Given the description of an element on the screen output the (x, y) to click on. 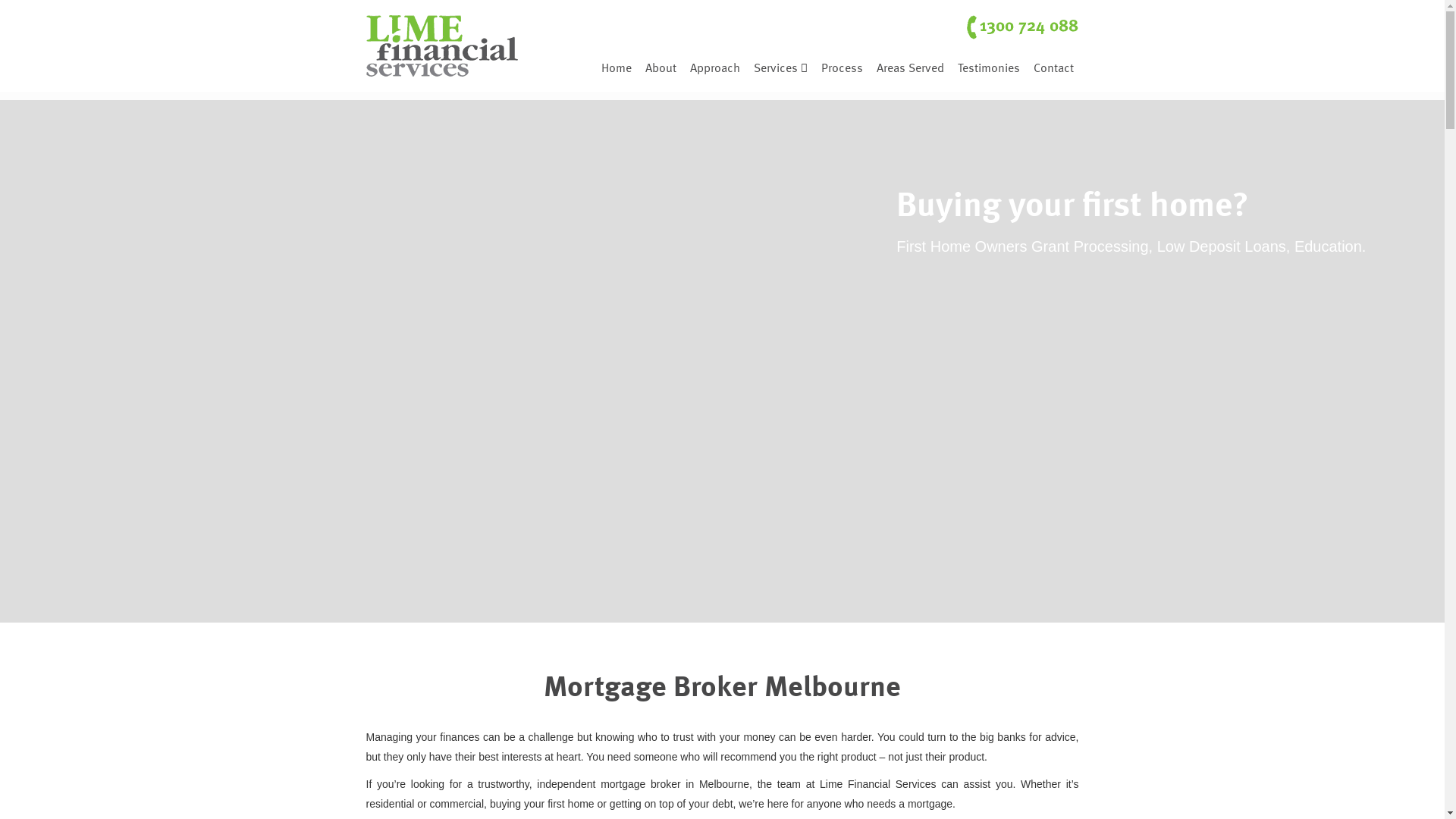
About Element type: text (660, 63)
Approach Element type: text (714, 63)
Process Element type: text (841, 63)
Testimonies Element type: text (988, 63)
Contact Element type: text (1053, 63)
Home Element type: text (616, 63)
Areas Served Element type: text (910, 63)
